Given the description of an element on the screen output the (x, y) to click on. 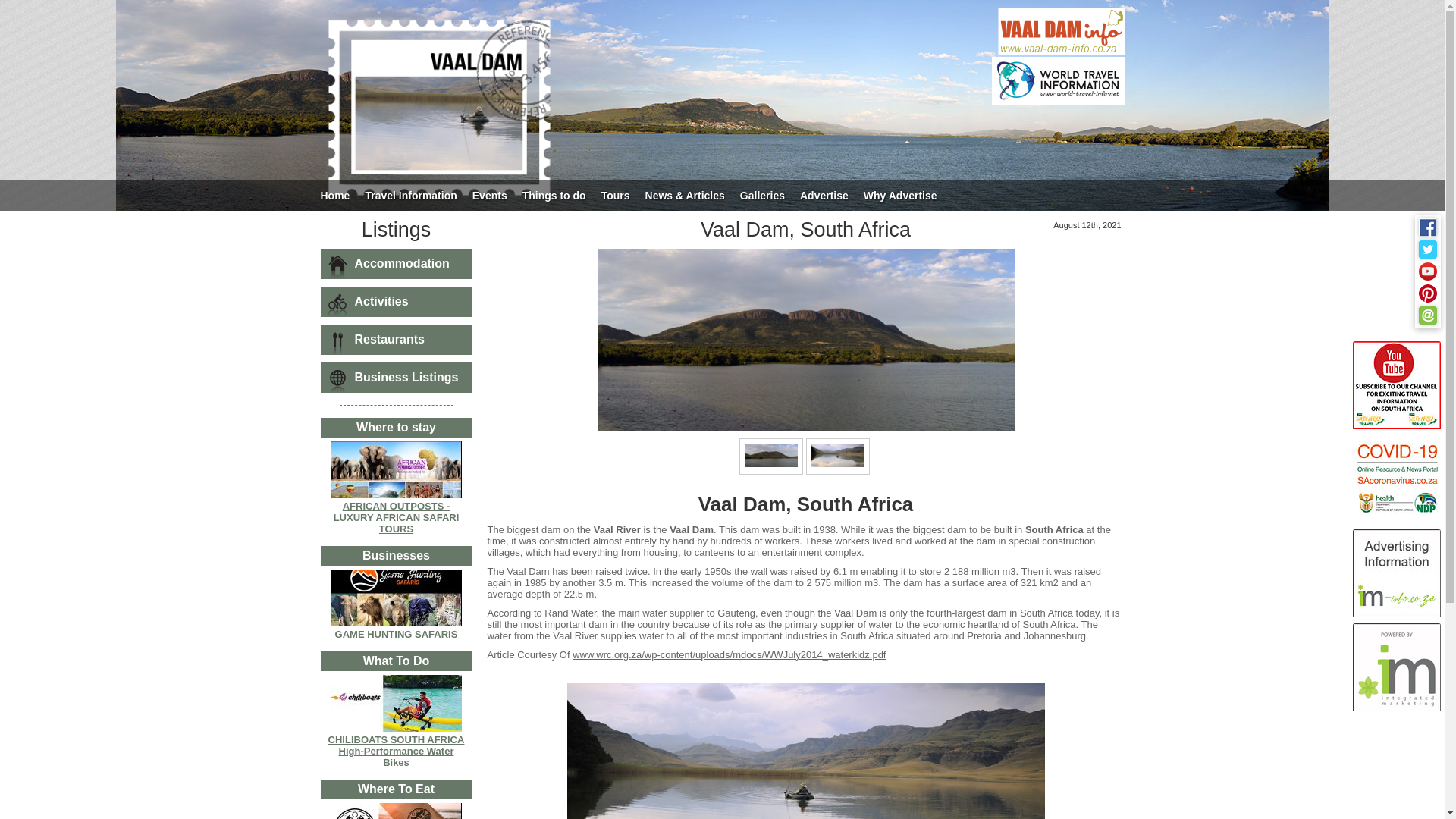
Tours (615, 195)
Events (489, 195)
Business Listings (395, 377)
Things to do (554, 195)
Email (1427, 315)
Accommodation (395, 263)
Find us on Facebook (1427, 227)
Travel Information (410, 195)
Advertise (824, 195)
Twitter (1427, 249)
